Given the description of an element on the screen output the (x, y) to click on. 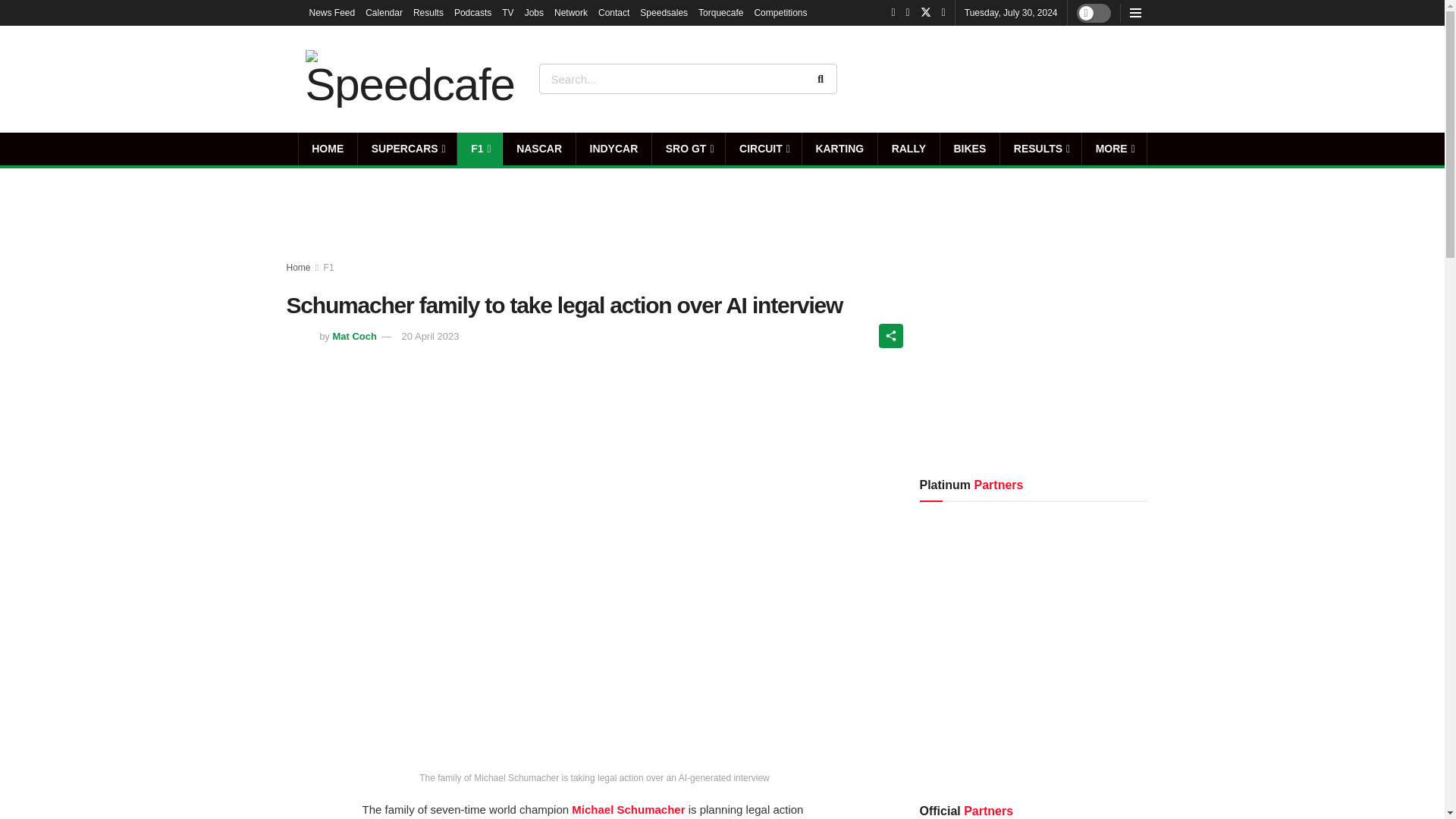
HOME (327, 148)
Truck Assist (1097, 78)
Torquecafe (720, 12)
Contact (613, 12)
News Feed (331, 12)
Competitions (780, 12)
Speedsales (663, 12)
Network (571, 12)
Calendar (384, 12)
Results (428, 12)
F1 (479, 148)
Podcasts (473, 12)
SUPERCARS (407, 148)
